Given the description of an element on the screen output the (x, y) to click on. 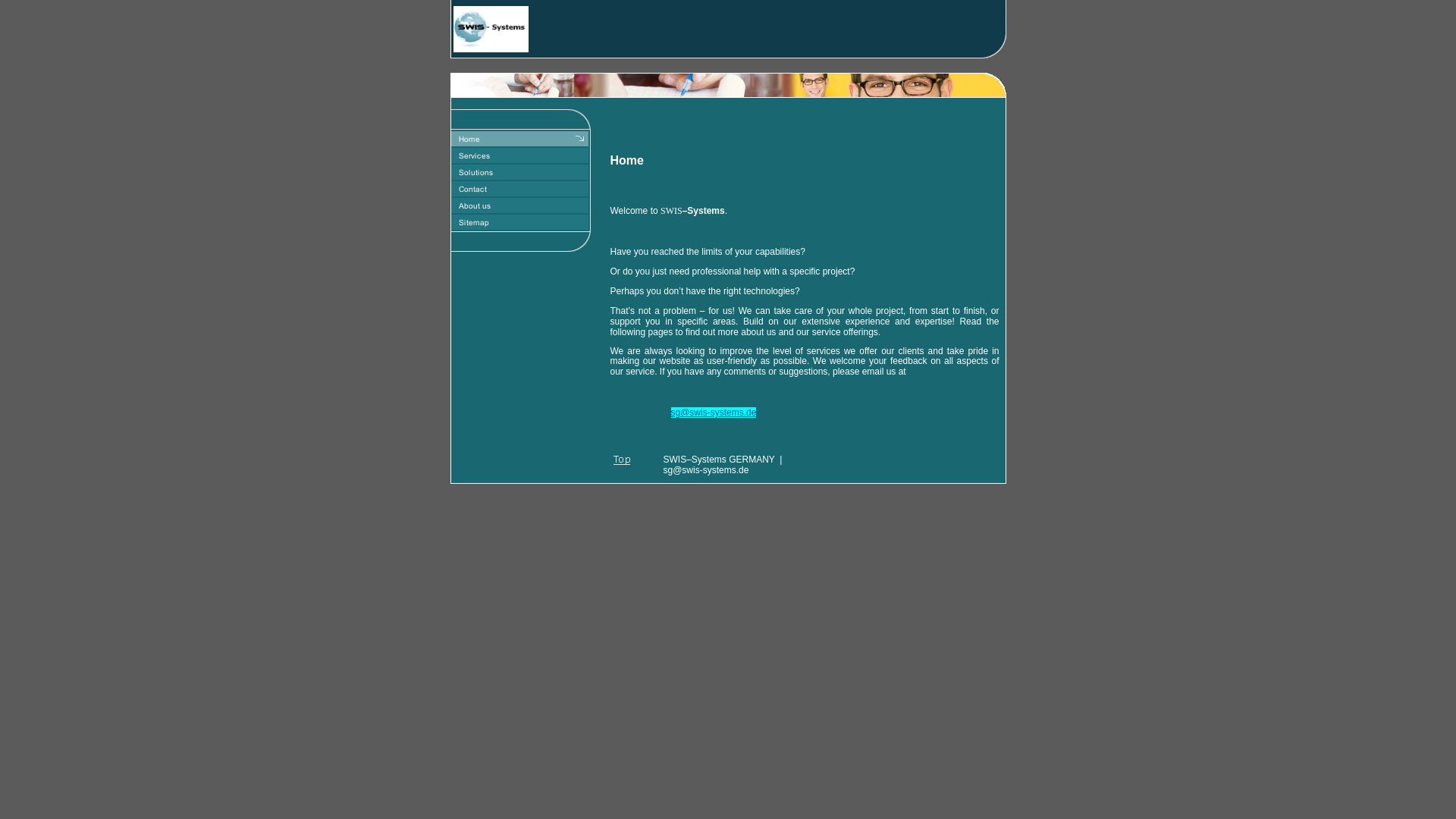
About us (519, 204)
Contact (519, 187)
Home (519, 137)
Services (519, 154)
Solutions (519, 170)
Sitemap (519, 221)
